Given the description of an element on the screen output the (x, y) to click on. 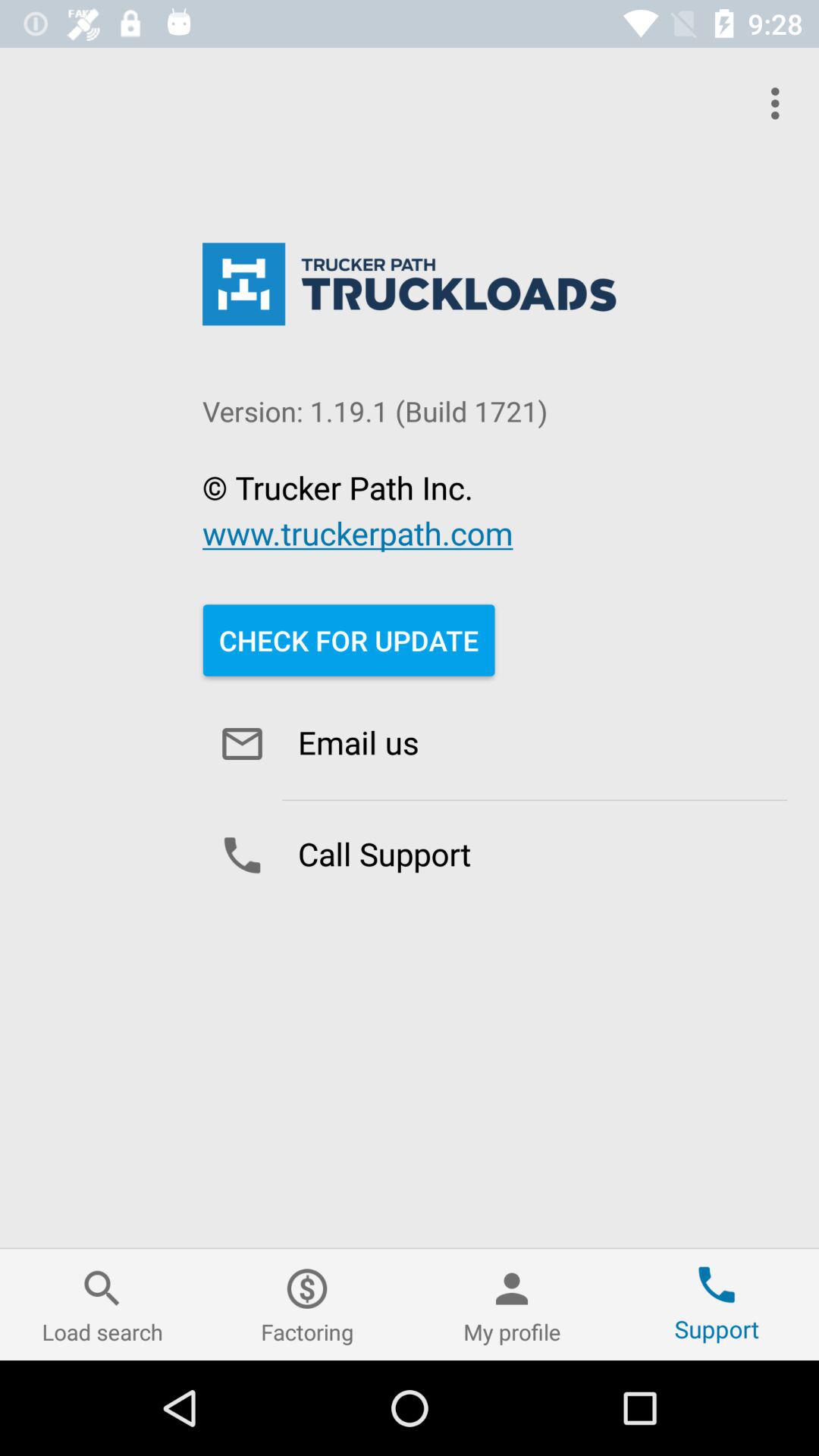
turn off email us icon (494, 743)
